Given the description of an element on the screen output the (x, y) to click on. 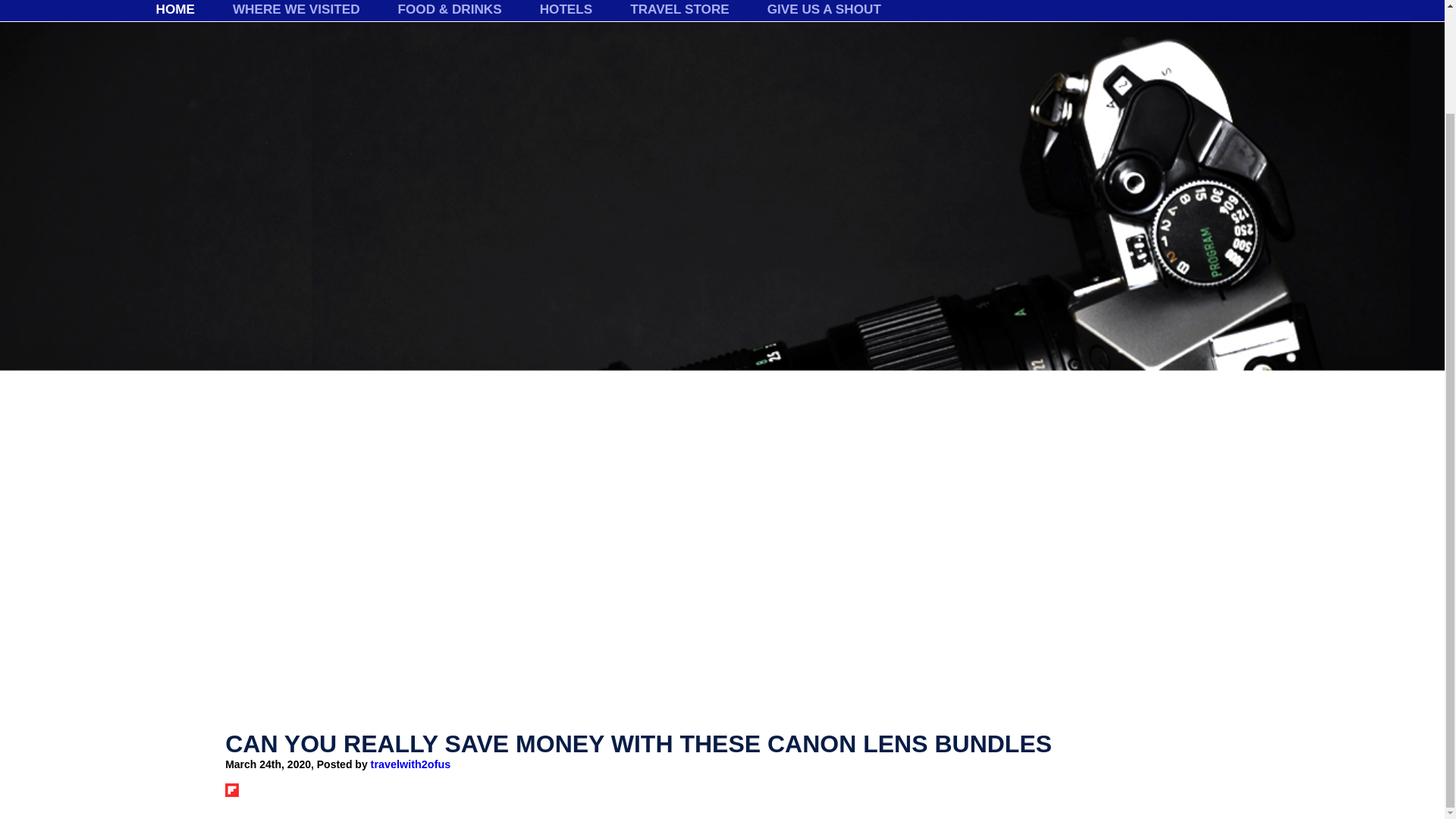
GIVE US A SHOUT (823, 20)
TRAVEL STORE (678, 20)
HOME (174, 20)
travelwith2ofus (411, 764)
WHERE WE VISITED (296, 20)
HOTELS (566, 20)
travelwith2ofus (411, 764)
